Given the description of an element on the screen output the (x, y) to click on. 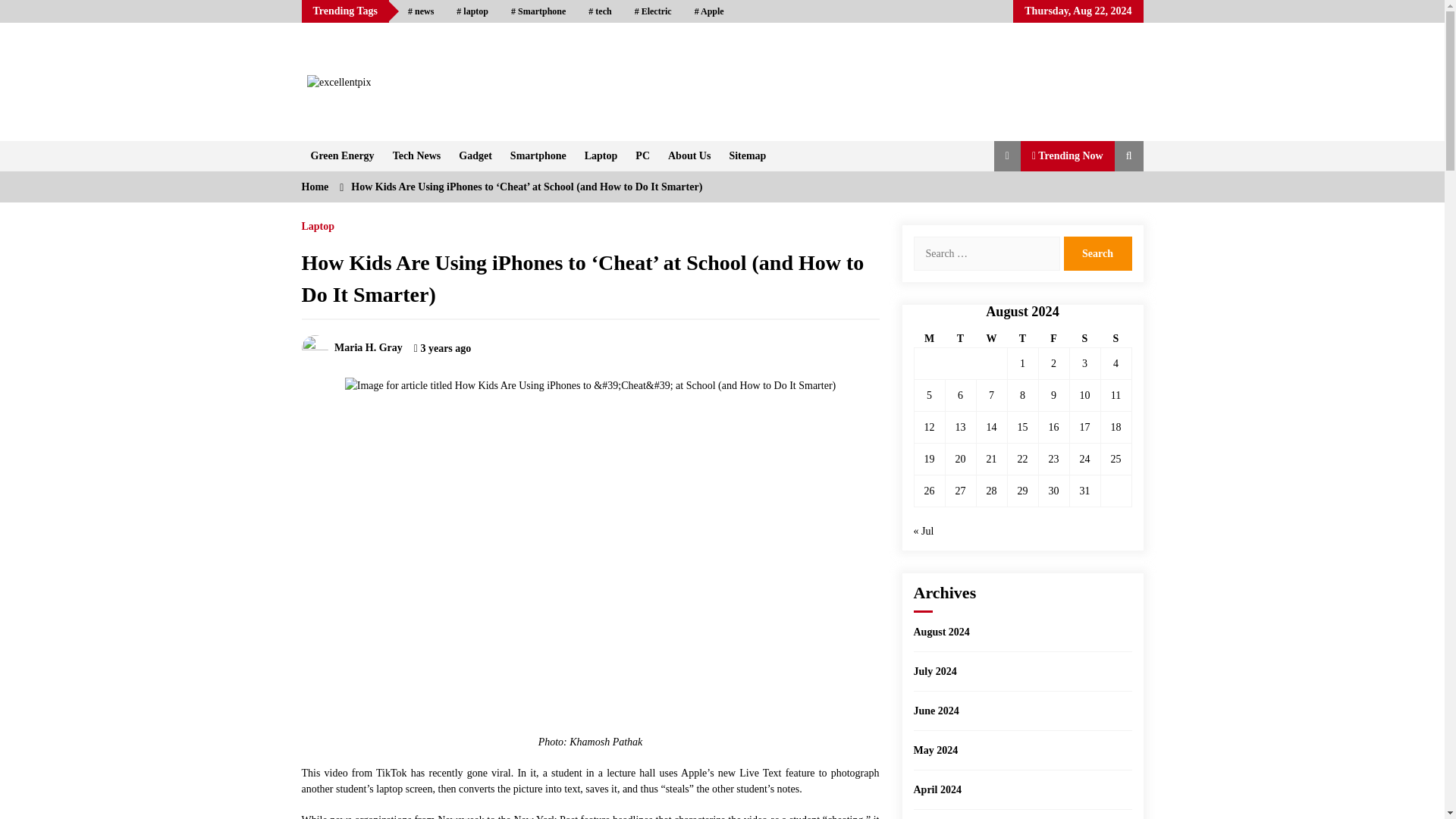
tech (599, 11)
news (420, 11)
Smartphone (537, 155)
Thursday (1022, 339)
Smartphone (537, 11)
Sitemap (746, 155)
PC (642, 155)
Gadget (474, 155)
Tuesday (959, 339)
Wednesday (991, 339)
